Given the description of an element on the screen output the (x, y) to click on. 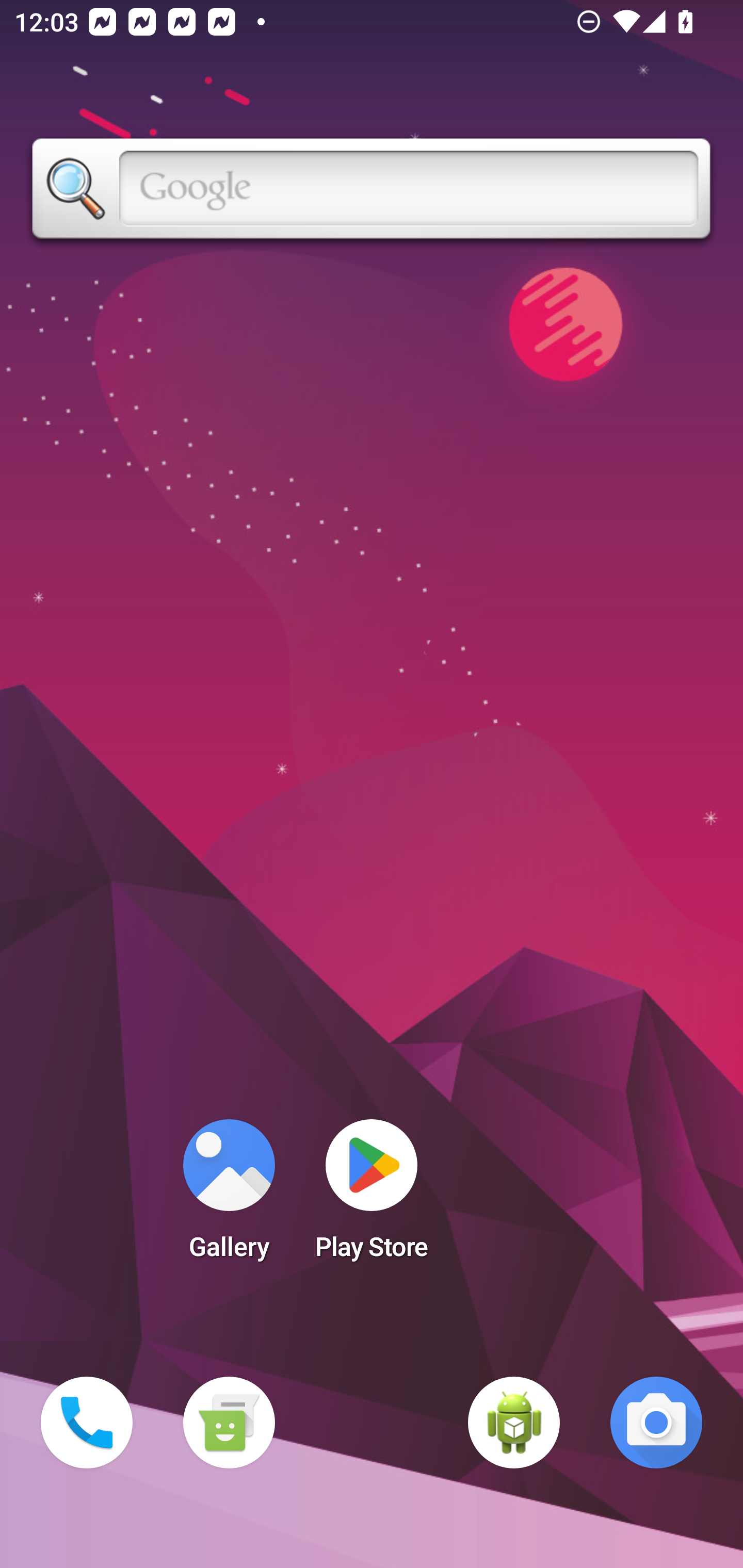
Gallery (228, 1195)
Play Store (371, 1195)
Phone (86, 1422)
Messaging (228, 1422)
WebView Browser Tester (513, 1422)
Camera (656, 1422)
